Given the description of an element on the screen output the (x, y) to click on. 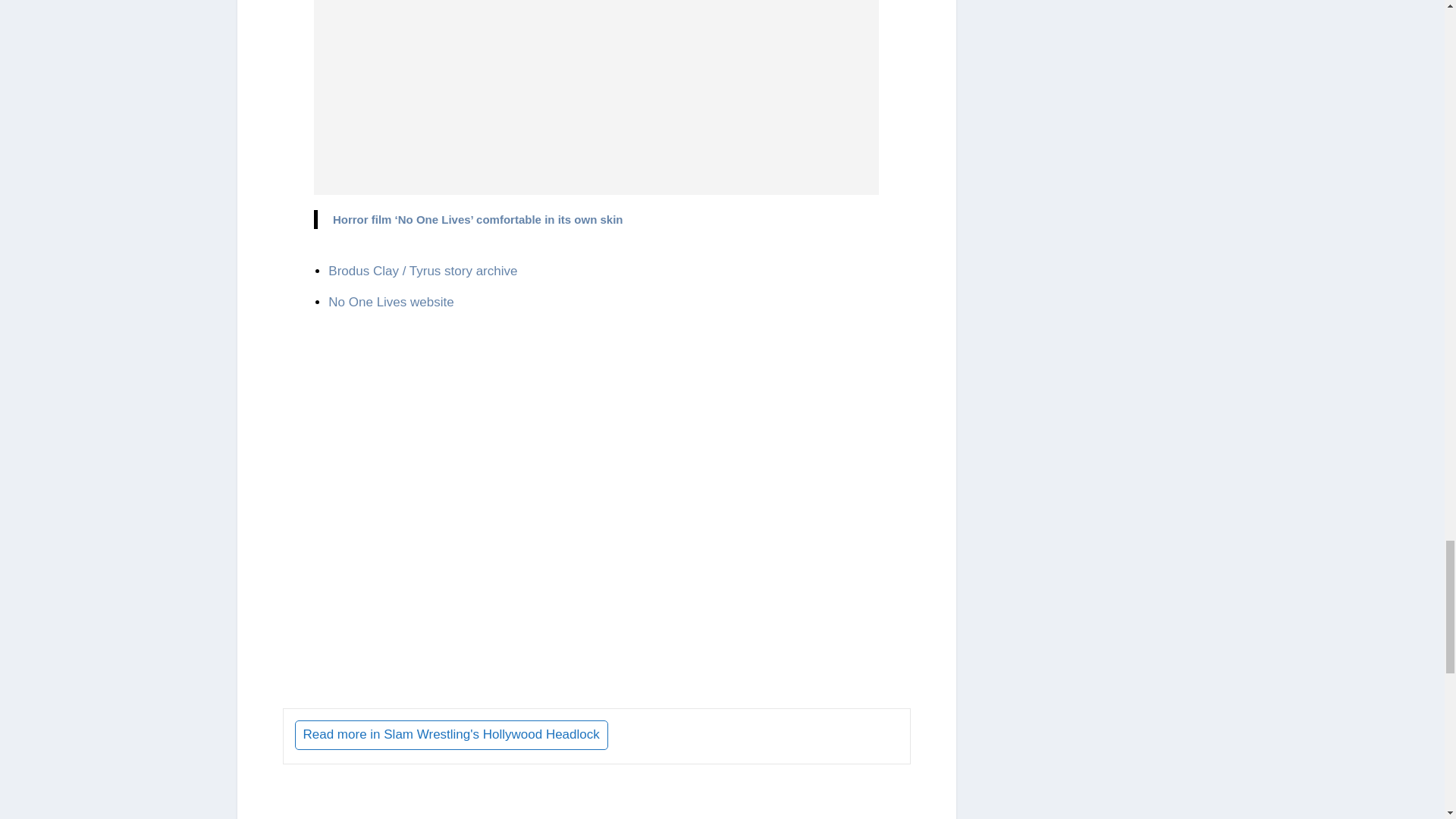
Read more in Slam Wrestling's Hollywood Headlock (450, 735)
No One Lives website (390, 301)
